Given the description of an element on the screen output the (x, y) to click on. 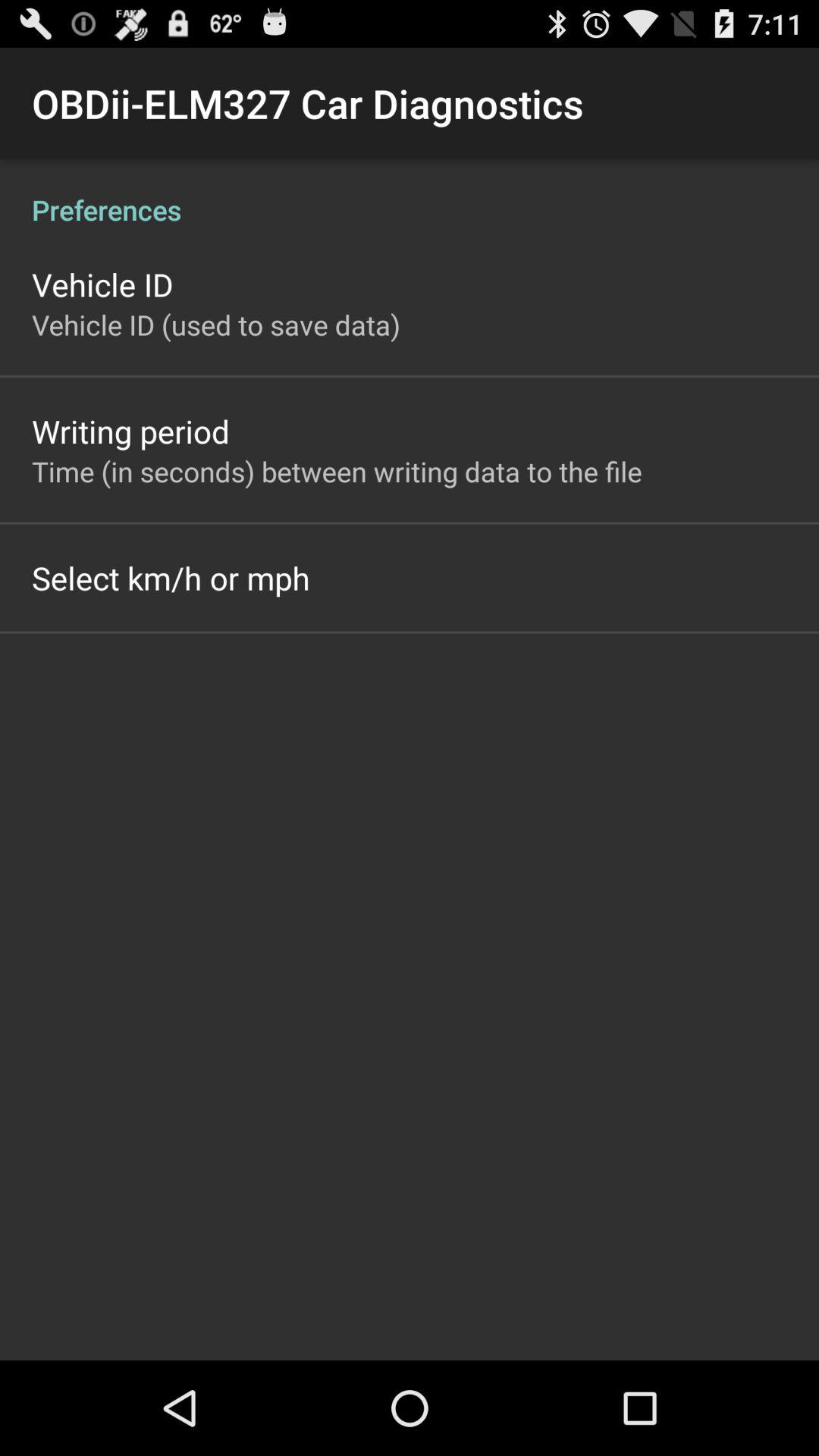
jump to writing period item (130, 430)
